Given the description of an element on the screen output the (x, y) to click on. 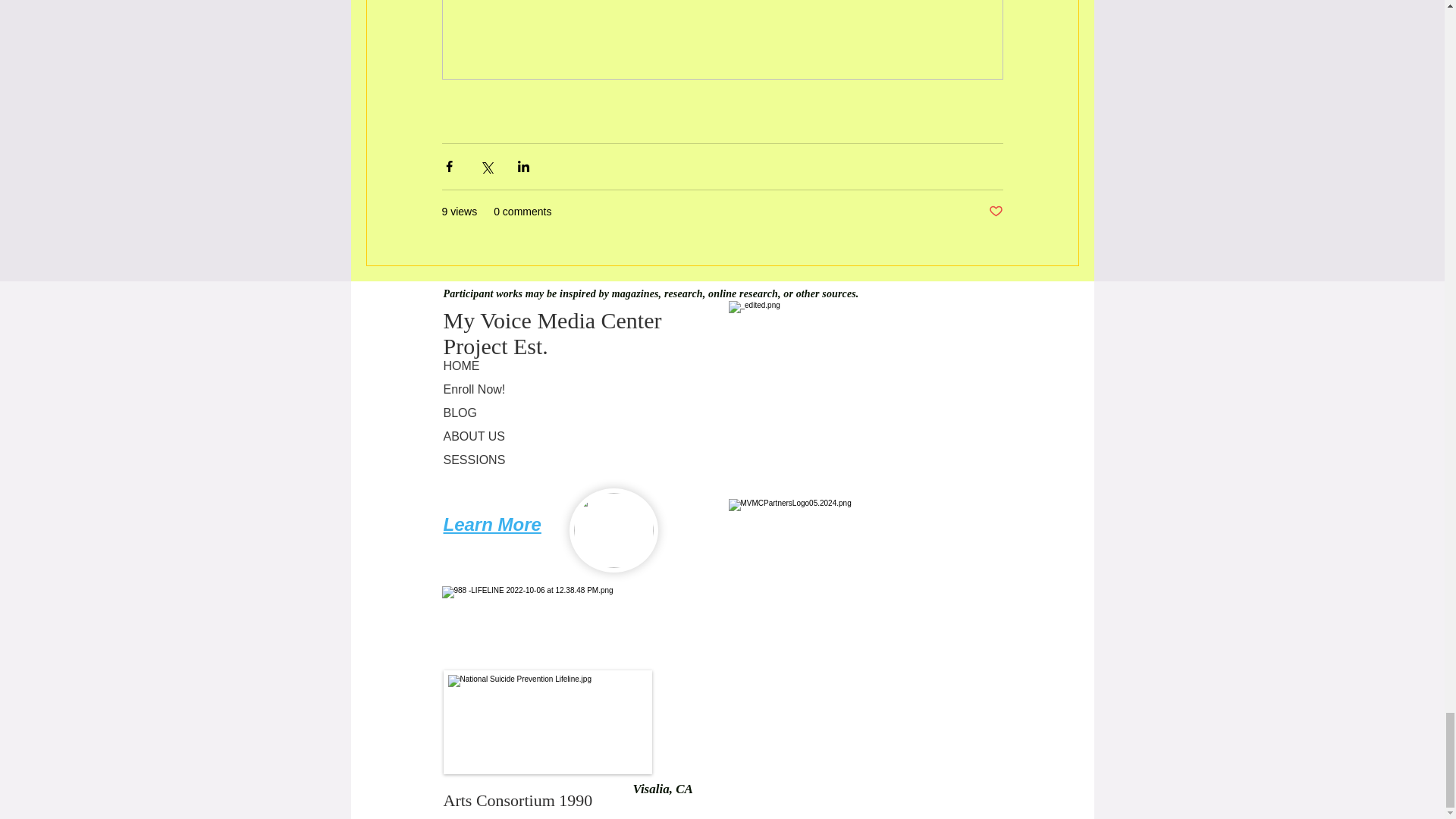
ABOUT US (551, 436)
Enroll Now! (551, 389)
HOME (551, 366)
BLOG (551, 413)
SESSIONS (551, 459)
Post not marked as liked (995, 211)
